Given the description of an element on the screen output the (x, y) to click on. 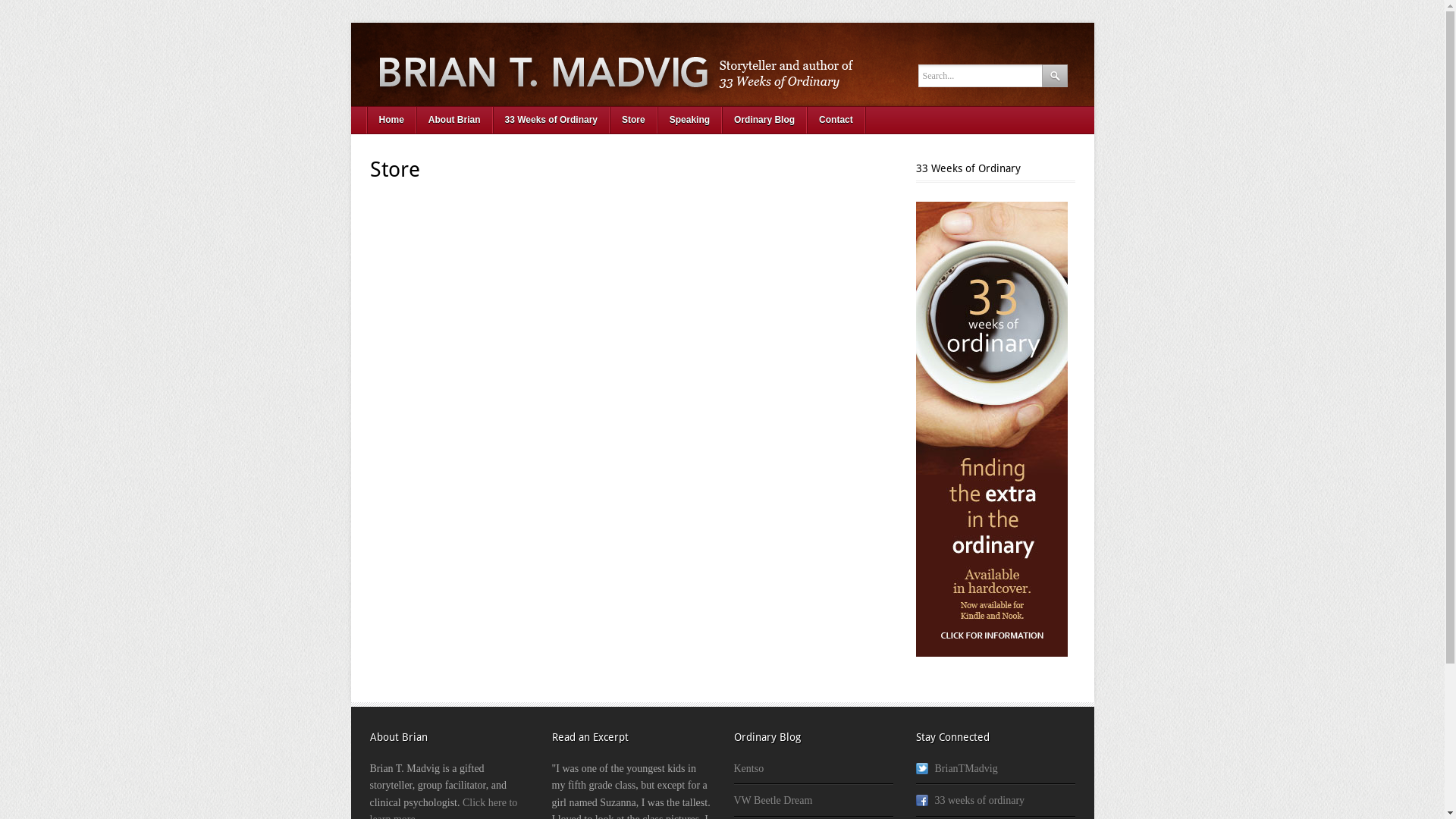
VW Beetle Dream Element type: text (773, 800)
33weeks-ad-vert Element type: hover (991, 428)
Speaking Element type: text (689, 119)
Store Element type: text (633, 119)
33 Weeks of Ordinary Element type: hover (721, 64)
Kentso Element type: text (749, 768)
Home Element type: text (391, 119)
BrianTMadvig Element type: text (956, 768)
Ordinary Blog Element type: text (763, 119)
Contact Element type: text (835, 119)
About Brian Element type: text (454, 119)
33 weeks of ordinary Element type: text (970, 800)
33 Weeks of Ordinary Element type: text (551, 119)
